Given the description of an element on the screen output the (x, y) to click on. 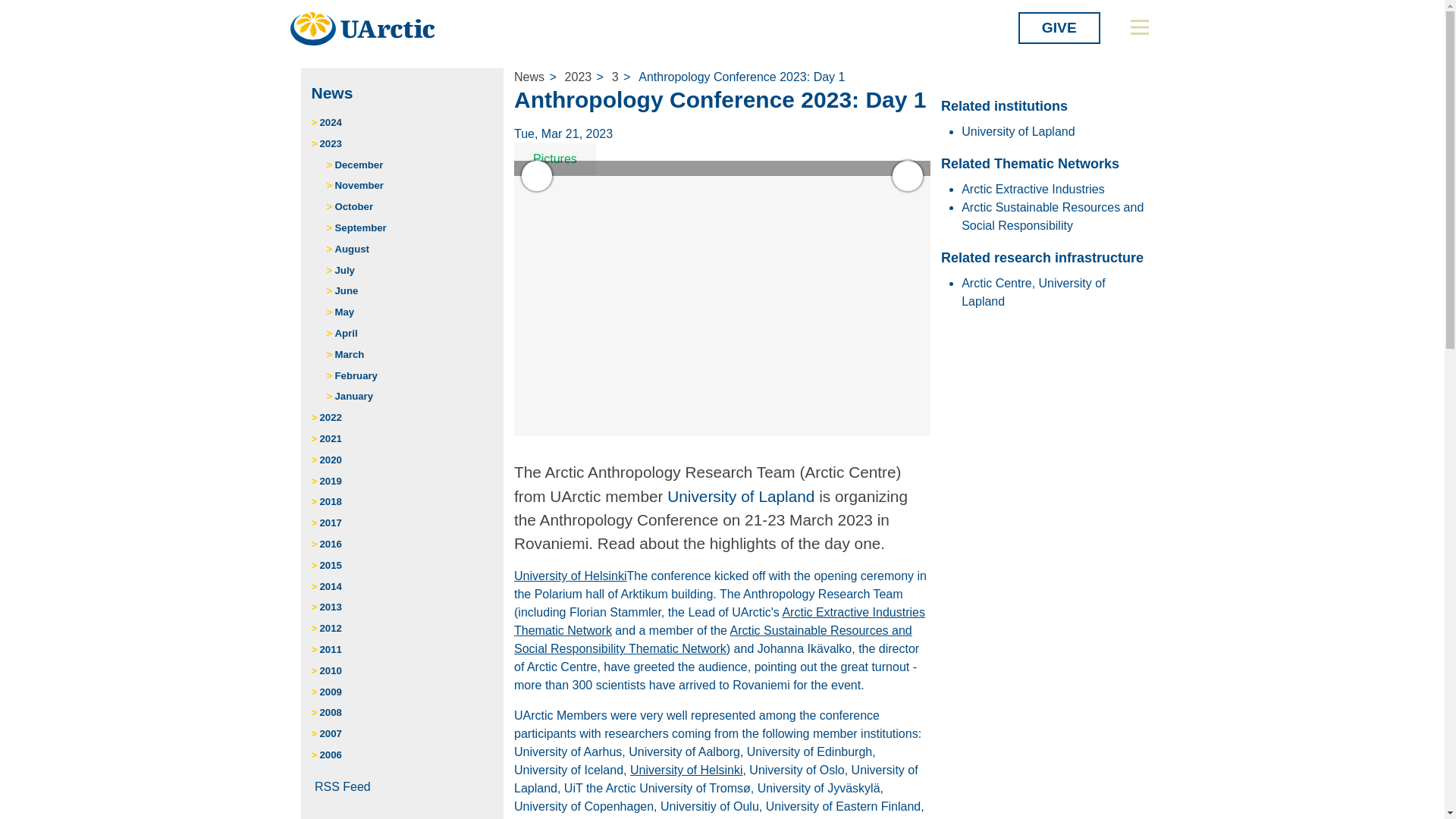
Arctic Sustainable Resources and Social Responsibility (712, 639)
University of Helsinki (686, 769)
Arctic Extractive Industries (1032, 188)
University of Lapland (739, 496)
GIVE (1058, 28)
University of Helsinki (569, 575)
Arctic Extractive Industries (718, 621)
Arctic Centre, University of Lapland (1032, 291)
University of Lapland (1017, 131)
Arctic Sustainable Resources and Social Responsibility (1051, 215)
